Given the description of an element on the screen output the (x, y) to click on. 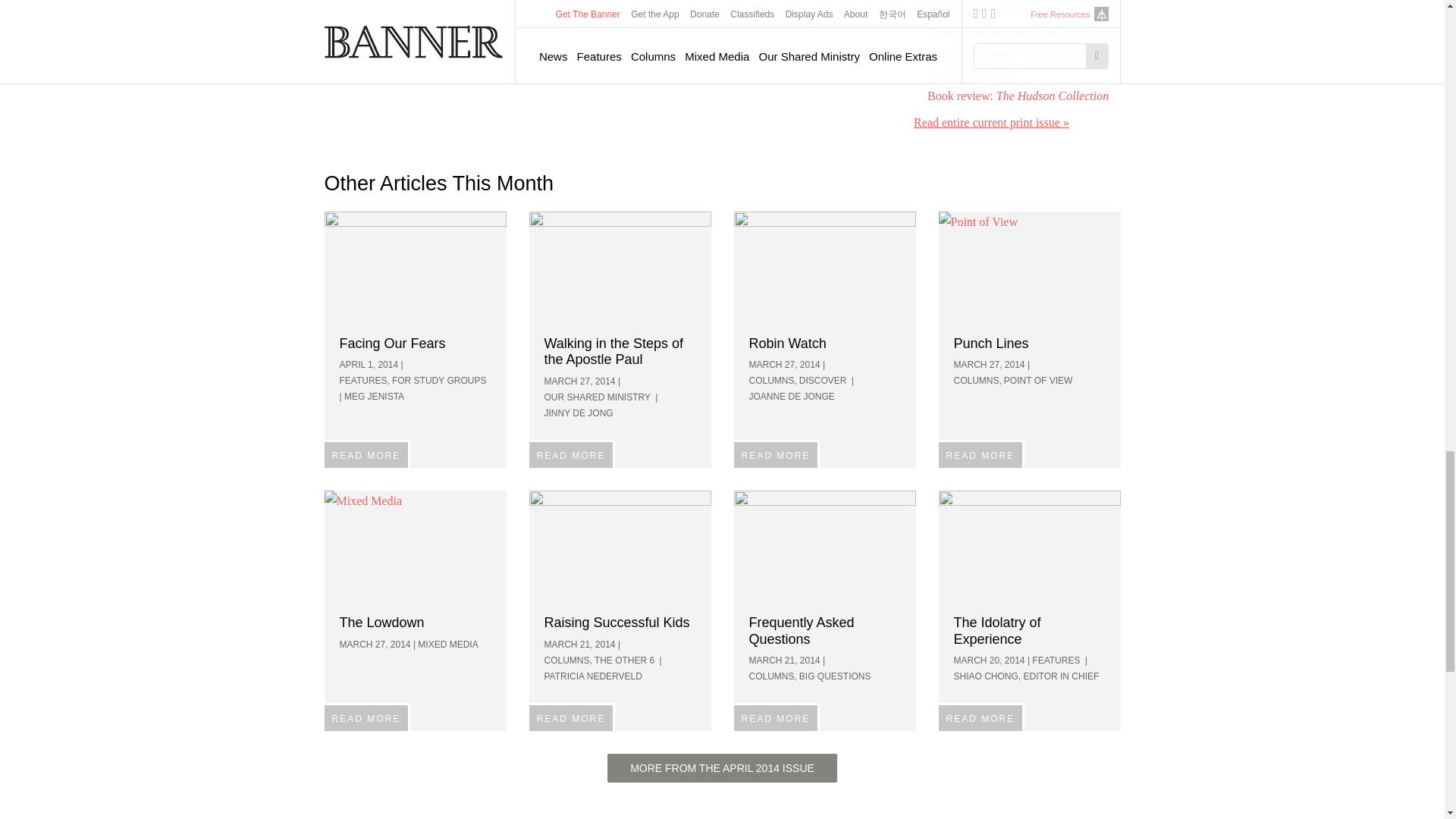
Point of View (1030, 267)
Mixed Media (415, 546)
